Given the description of an element on the screen output the (x, y) to click on. 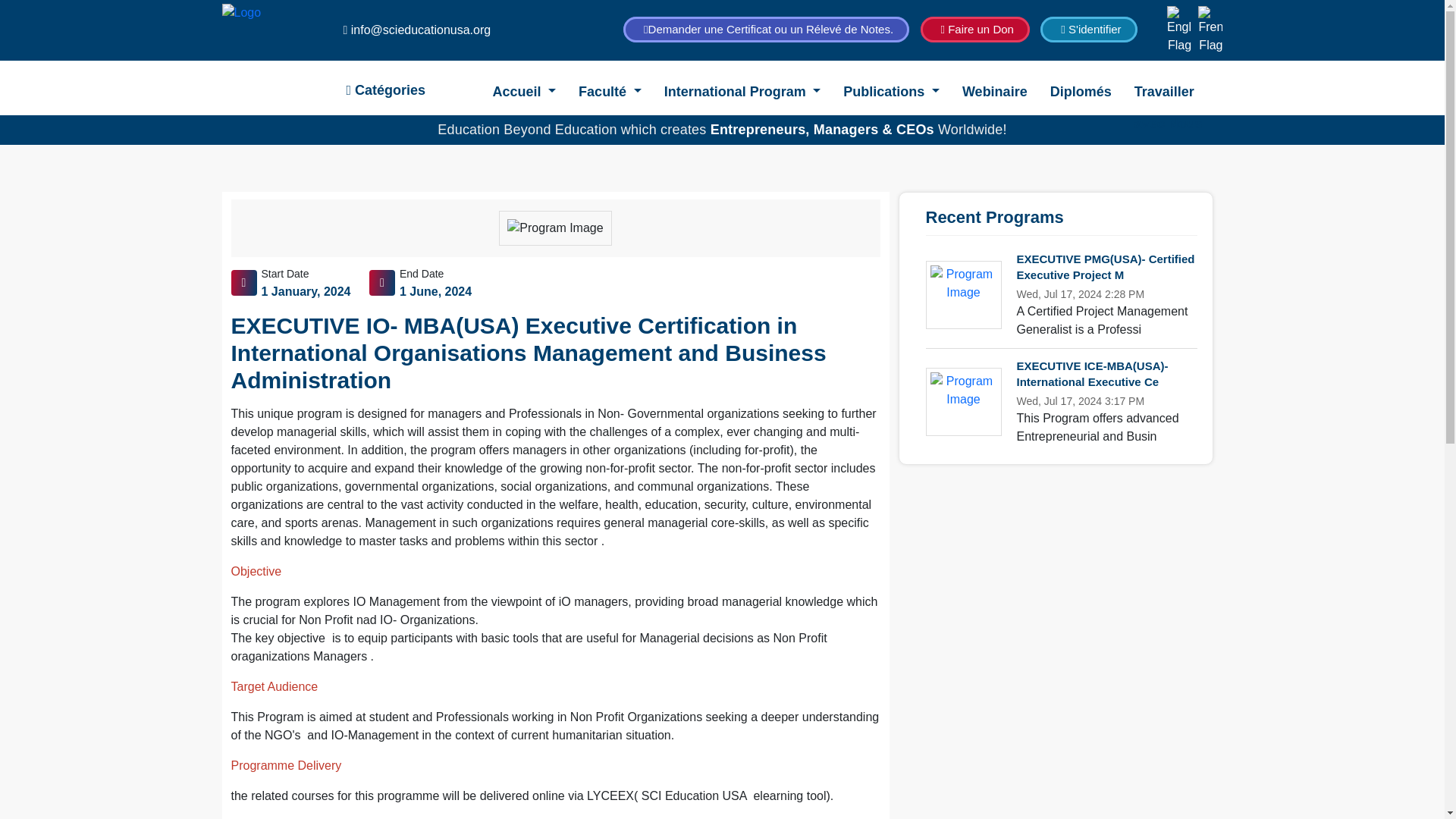
International Program (742, 90)
Accueil (523, 90)
Webinaire (994, 90)
Faire un Don (974, 29)
Publications (890, 90)
S'identifier (1089, 29)
Travailler avec Nous (1172, 90)
